Given the description of an element on the screen output the (x, y) to click on. 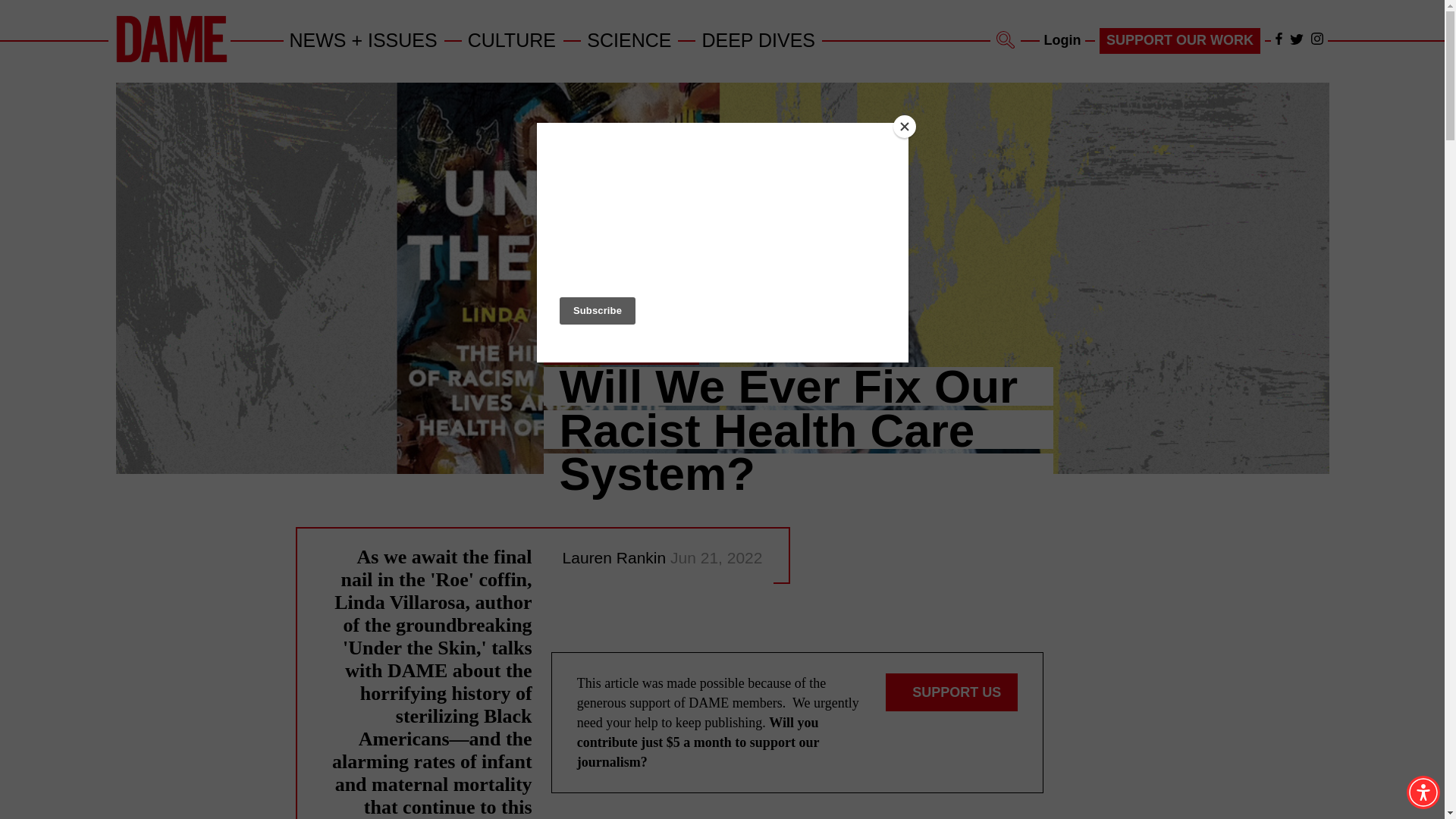
Accessibility Menu (1422, 792)
Twitter (1296, 39)
Culture (512, 39)
Instagram (1316, 38)
DAME (171, 58)
View all posts by Lauren Rankin (615, 557)
Deep Dives (758, 39)
DAME (171, 38)
SCIENCE (629, 39)
DEEP DIVES (758, 39)
CULTURE (512, 39)
Search (1004, 39)
Science (629, 39)
